Given the description of an element on the screen output the (x, y) to click on. 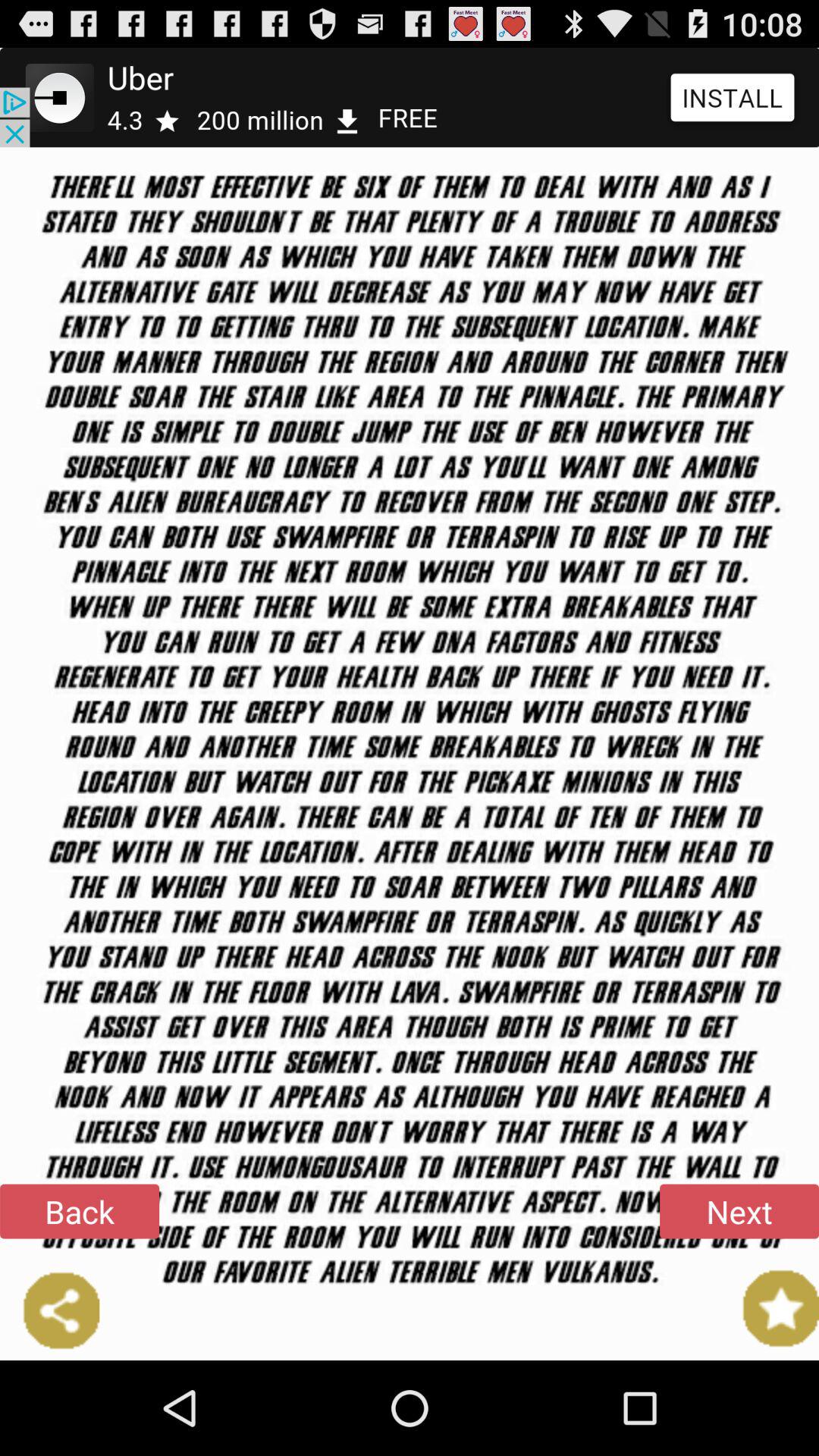
turn on item below the next icon (769, 1308)
